Given the description of an element on the screen output the (x, y) to click on. 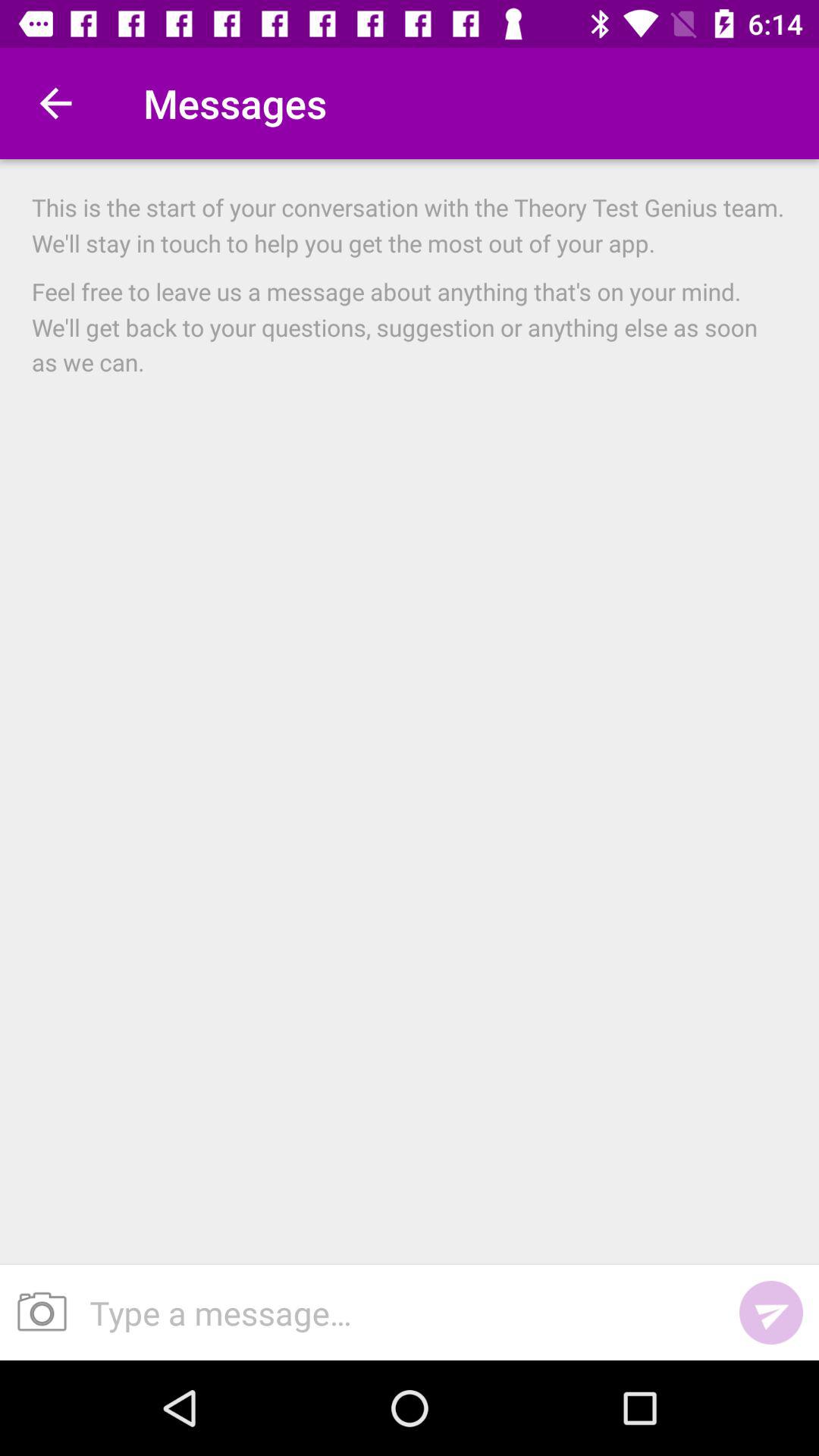
open the icon above feel free to icon (409, 225)
